Given the description of an element on the screen output the (x, y) to click on. 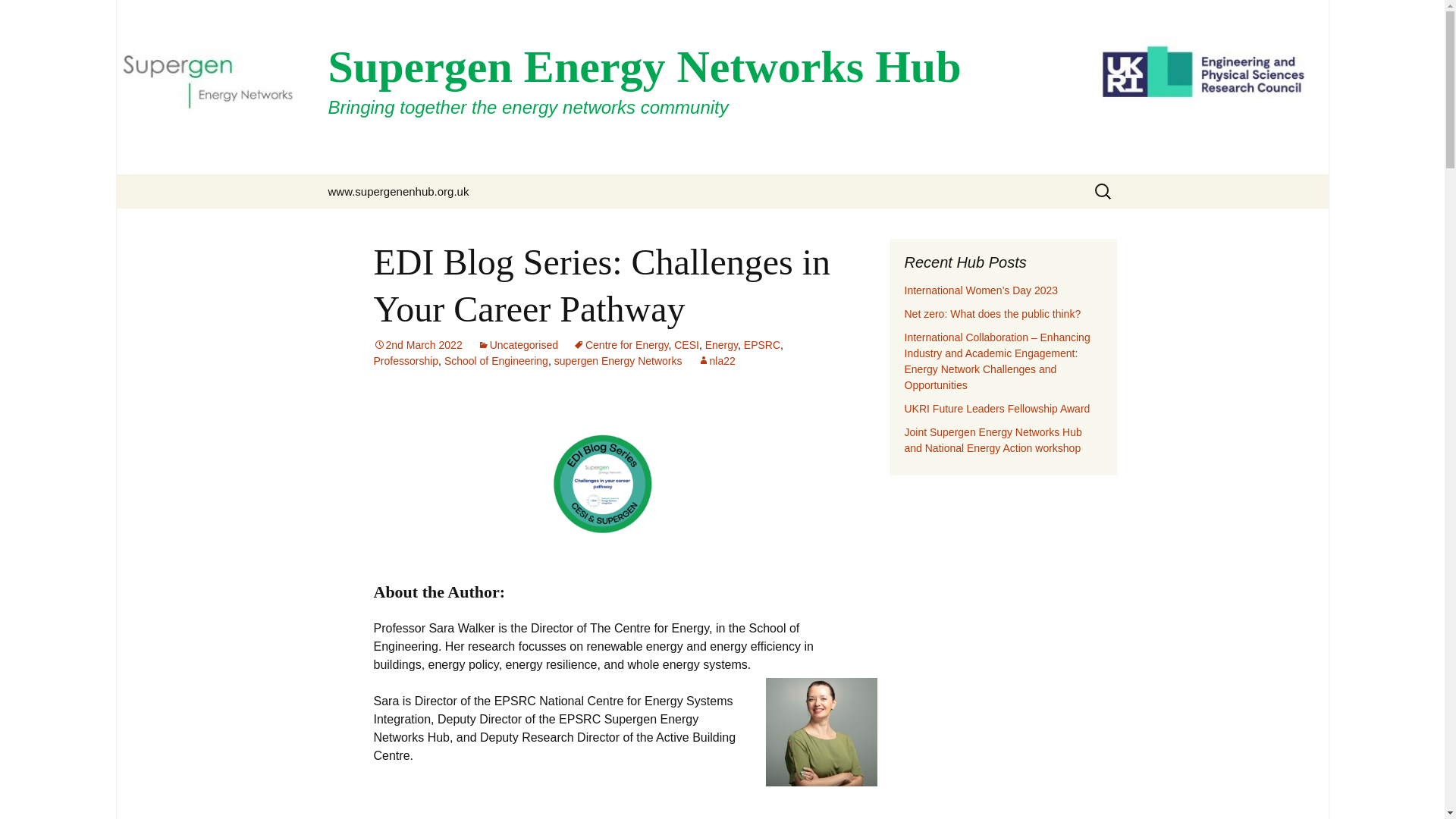
UKRI Future Leaders Fellowship Award (996, 408)
Net zero: What does the public think? (992, 313)
Search (18, 15)
View all posts by nla22 (716, 360)
EPSRC (762, 345)
2nd March 2022 (416, 345)
CESI (686, 345)
Energy (721, 345)
Professorship (405, 360)
supergen Energy Networks (618, 360)
www.supergenenhub.org.uk (398, 191)
Uncategorised (517, 345)
nla22 (716, 360)
